Given the description of an element on the screen output the (x, y) to click on. 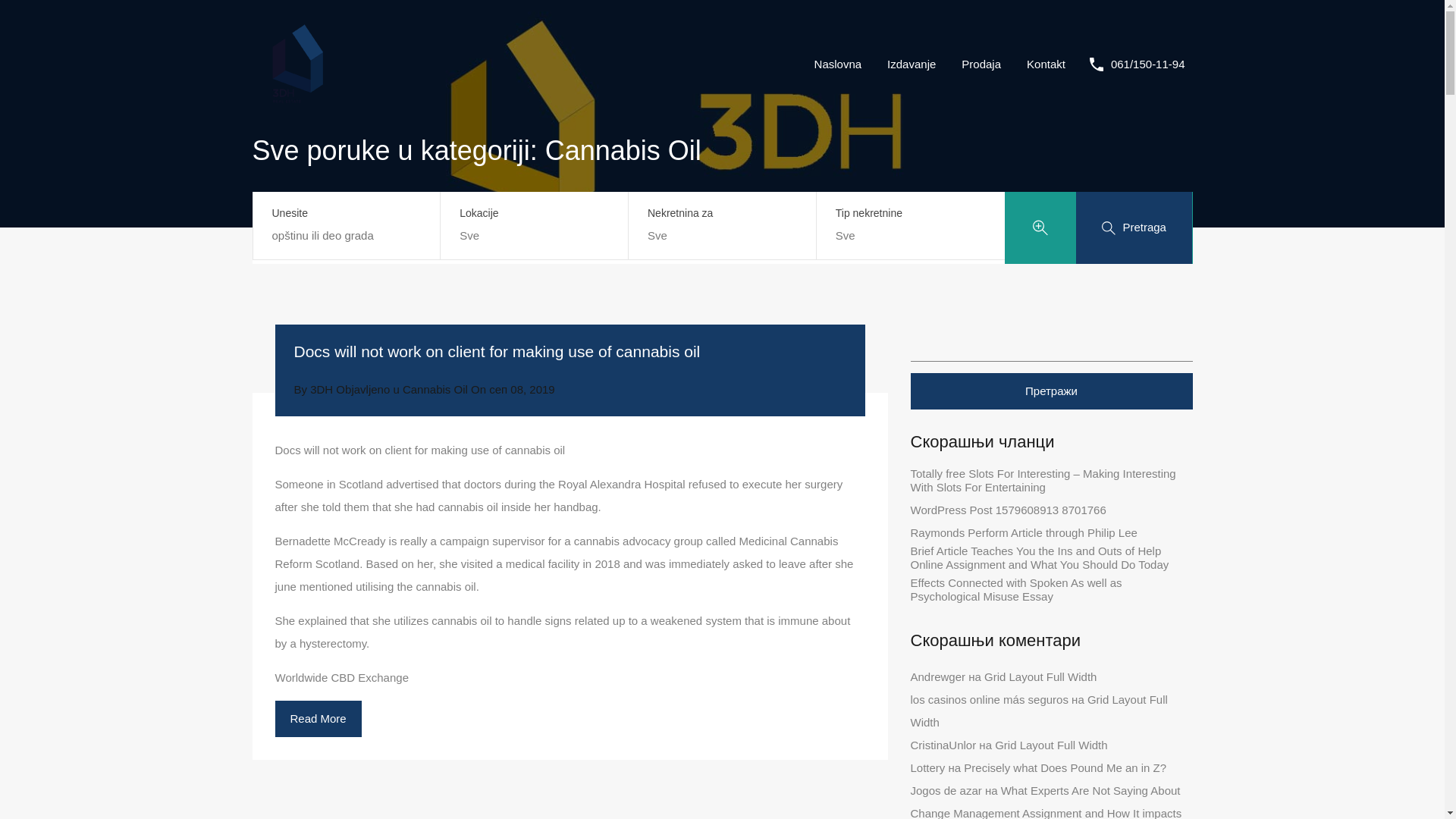
Lottery (927, 767)
CristinaUnlor (942, 744)
Jogos de azar (945, 789)
Read More (318, 719)
Cannabis Oil (435, 389)
WordPress Post 1579608913 8701766 (1007, 509)
Precisely what Does Pound Me an in Z? (1064, 767)
Izdavanje (912, 64)
Grid Layout Full Width (1050, 744)
Kontakt (1045, 64)
Grid Layout Full Width (1038, 710)
Naslovna (838, 64)
